Given the description of an element on the screen output the (x, y) to click on. 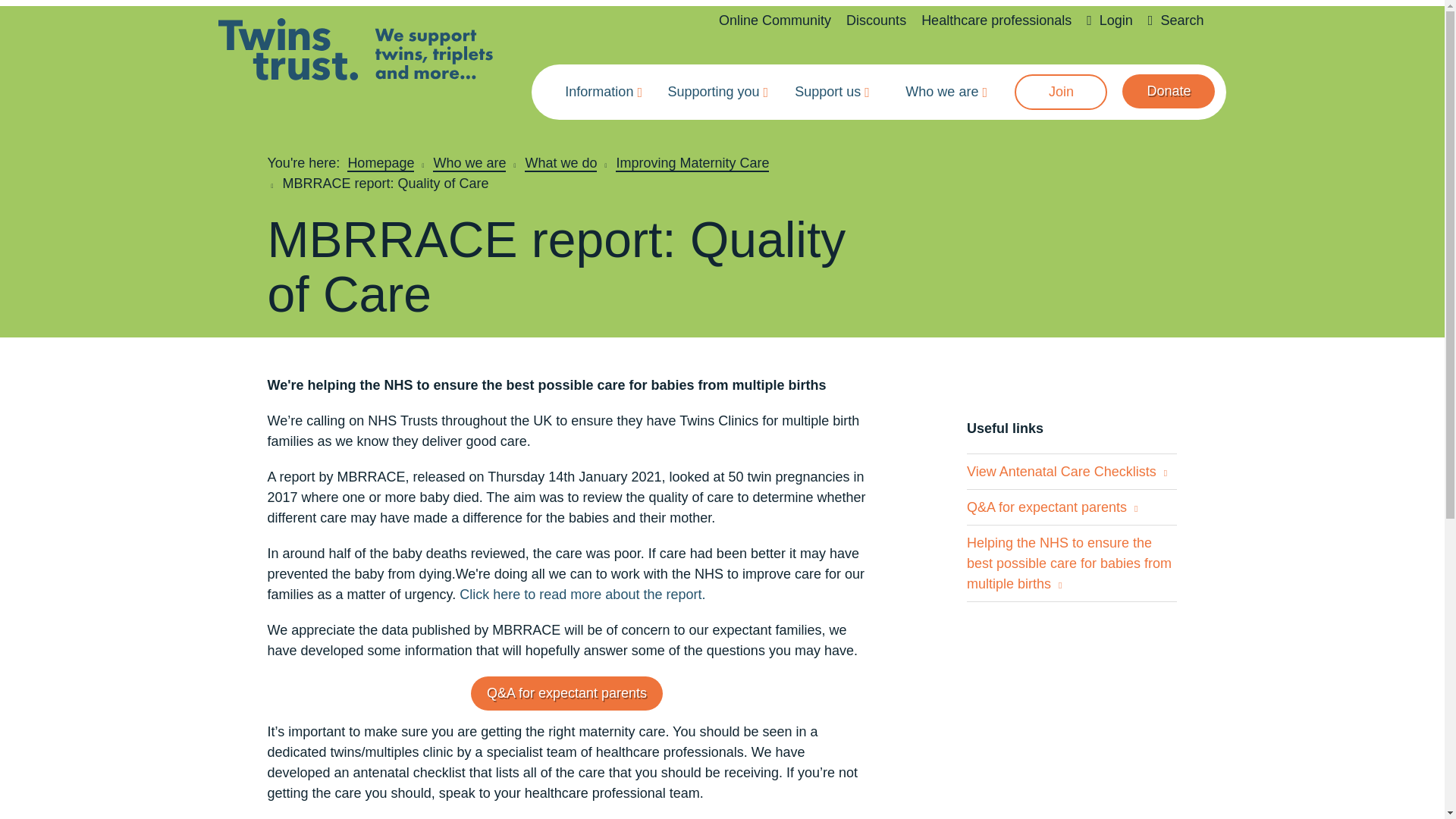
Donate (1168, 91)
Login (1109, 20)
Search (1176, 20)
Join (1060, 91)
Information (599, 91)
Discounts (875, 20)
Discounts (875, 20)
Healthcare professionals (996, 20)
Online Community (775, 20)
Healthcare professionals (996, 20)
